Given the description of an element on the screen output the (x, y) to click on. 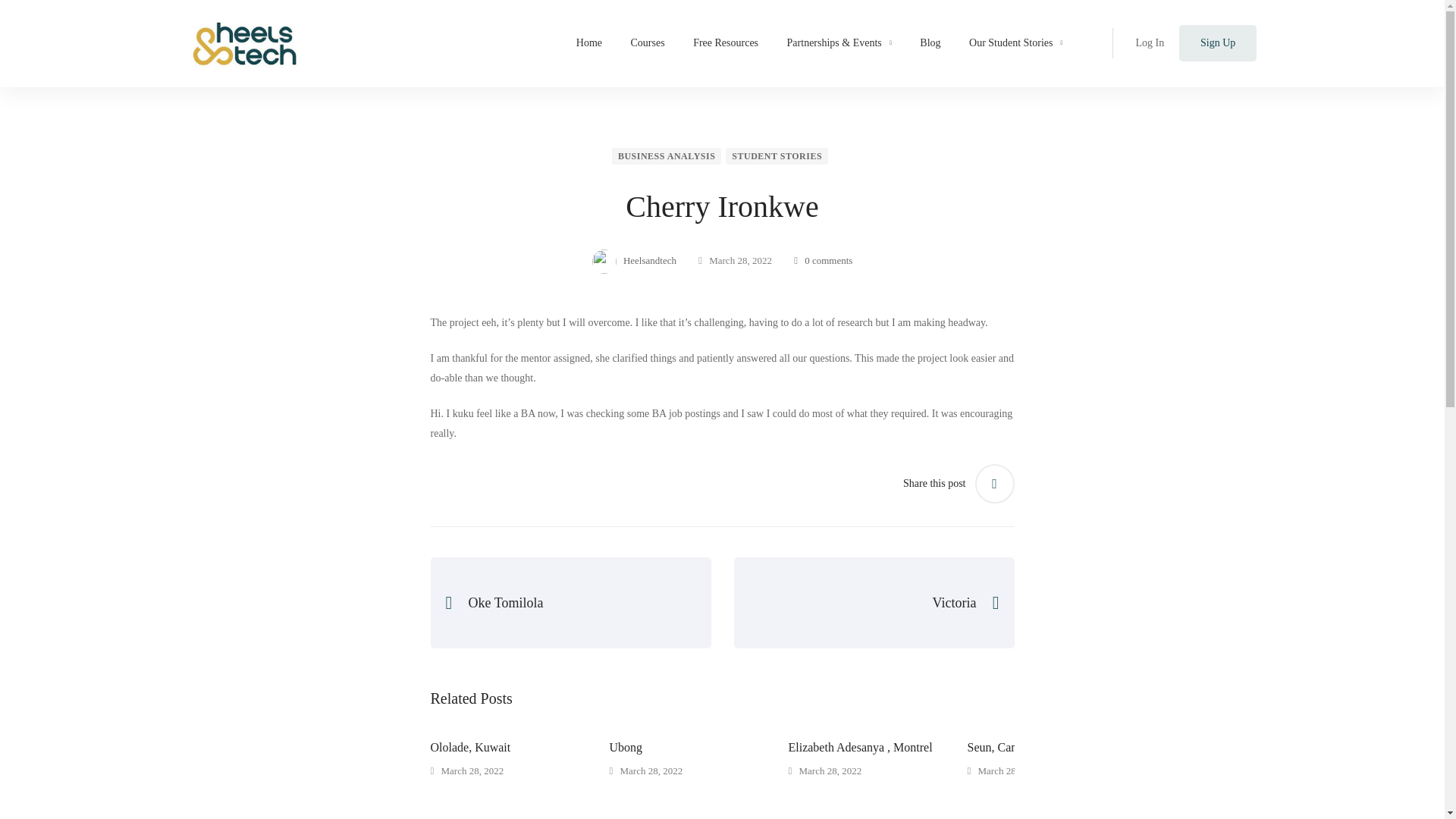
Log In (1149, 43)
Courses (647, 43)
0 comments (822, 260)
Ololade, Kuwait (520, 747)
Heelsandtech (634, 261)
BUSINESS ANALYSIS (665, 156)
Seun, Canada (1057, 747)
0 comments (822, 260)
Our Student Stories (1015, 43)
Free Resources (725, 43)
